Given the description of an element on the screen output the (x, y) to click on. 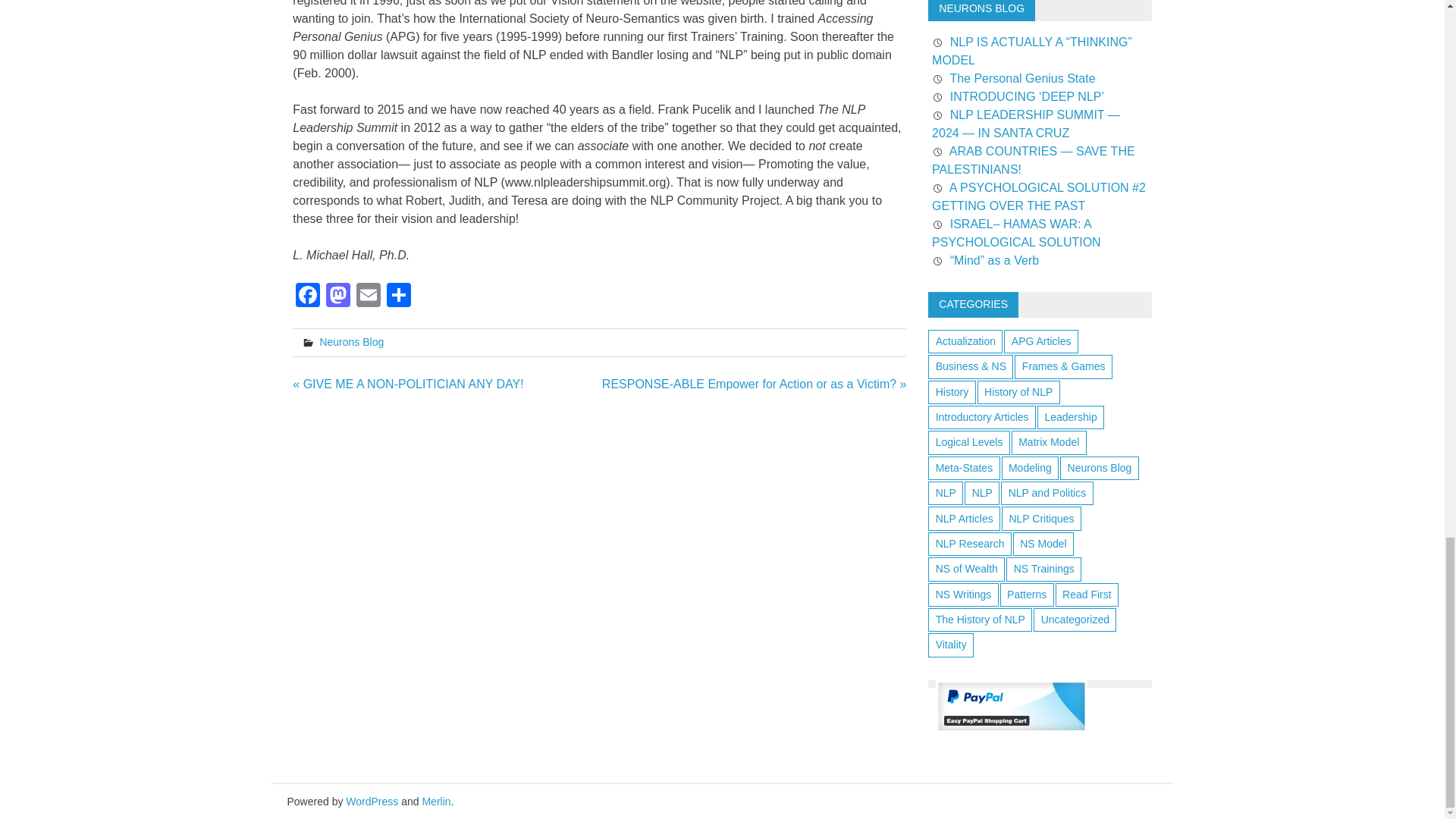
Mastodon (338, 296)
Facebook (307, 296)
Merlin WordPress Theme (435, 801)
Email (368, 296)
WordPress (371, 801)
